Given the description of an element on the screen output the (x, y) to click on. 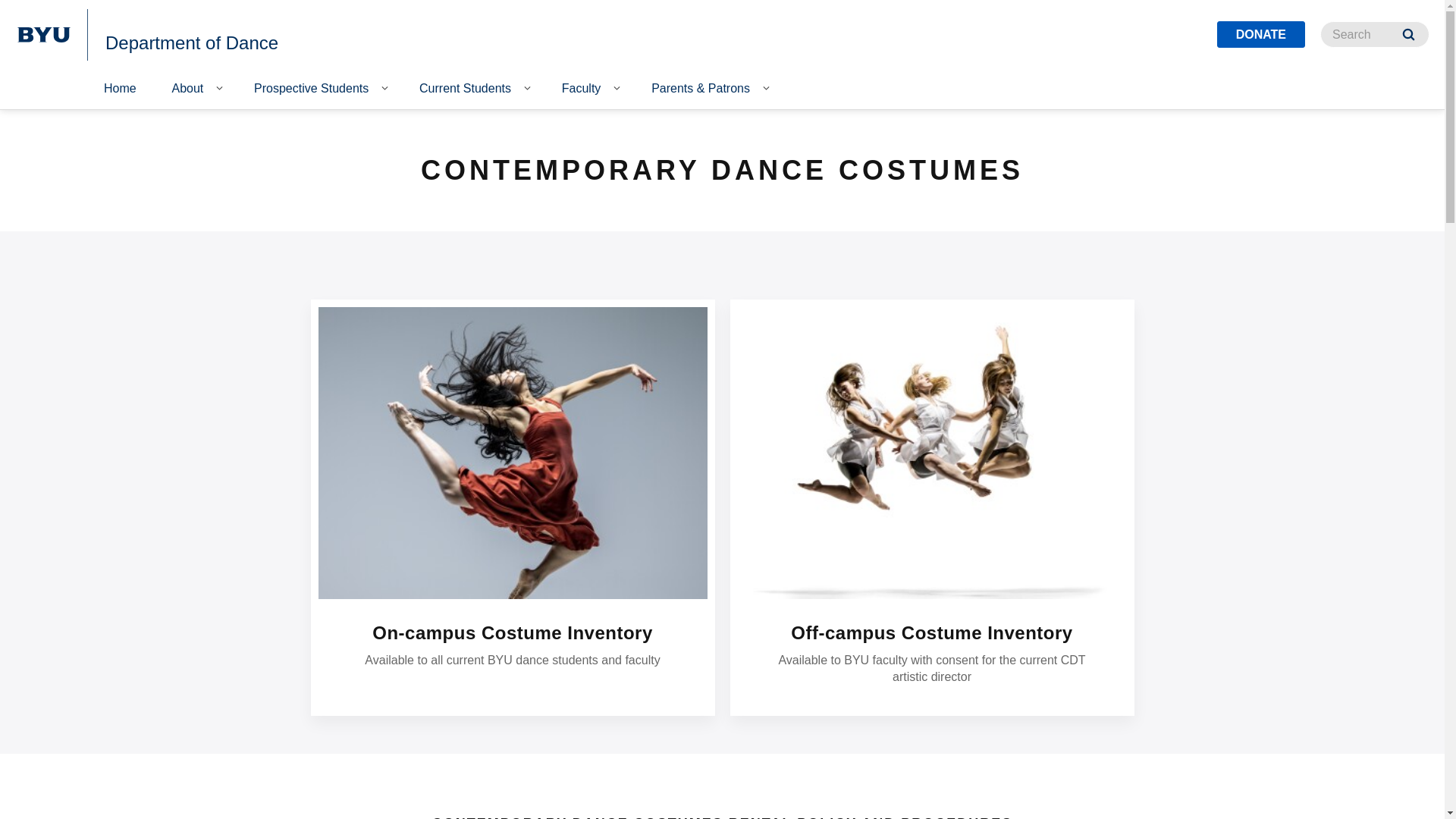
Department of Dance (191, 42)
College of Fine Arts and Communications (216, 16)
Search (1408, 34)
DONATE (1260, 34)
Home (119, 89)
